Given the description of an element on the screen output the (x, y) to click on. 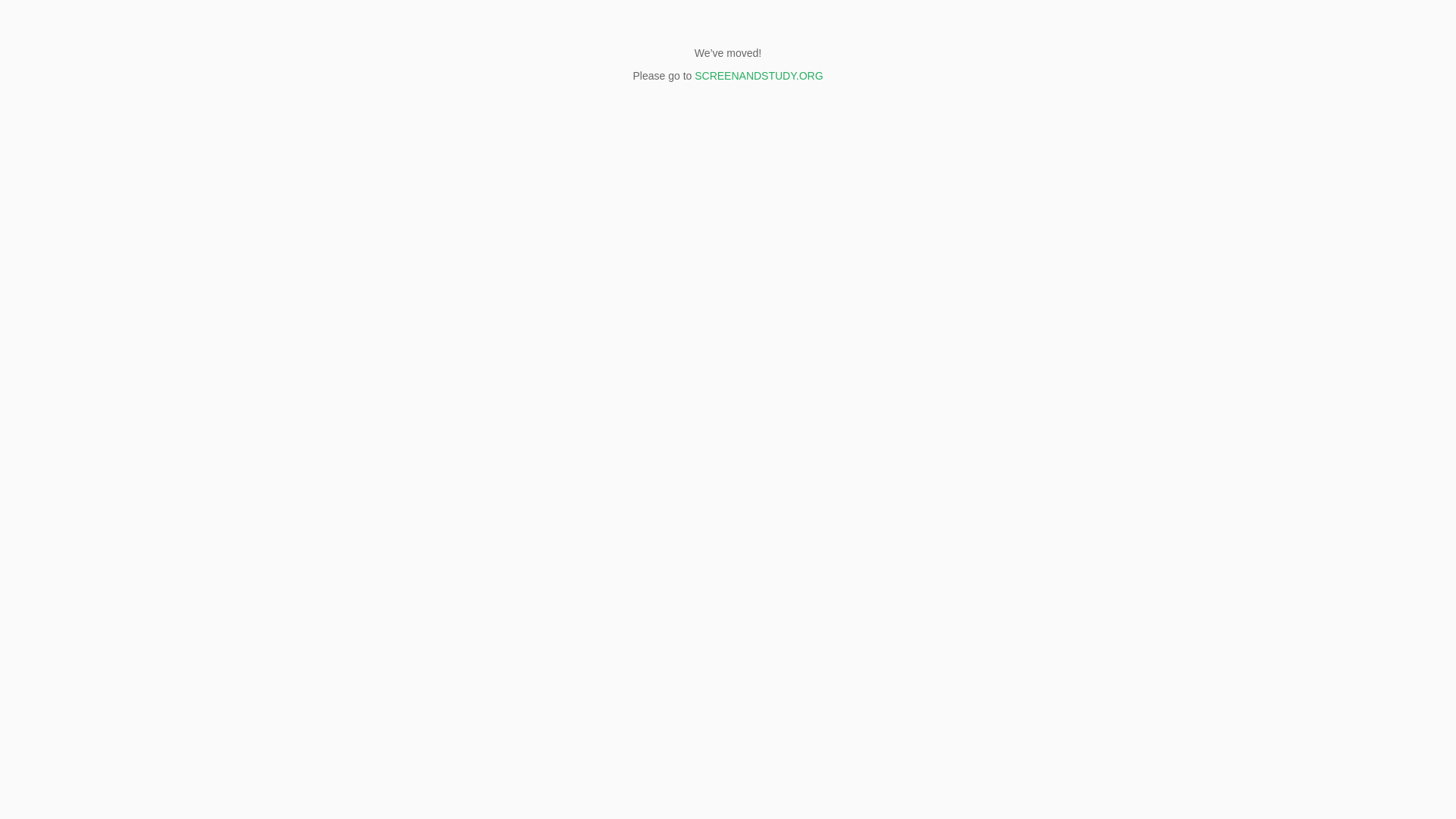
SCREENANDSTUDY.ORG Element type: text (756, 75)
